Given the description of an element on the screen output the (x, y) to click on. 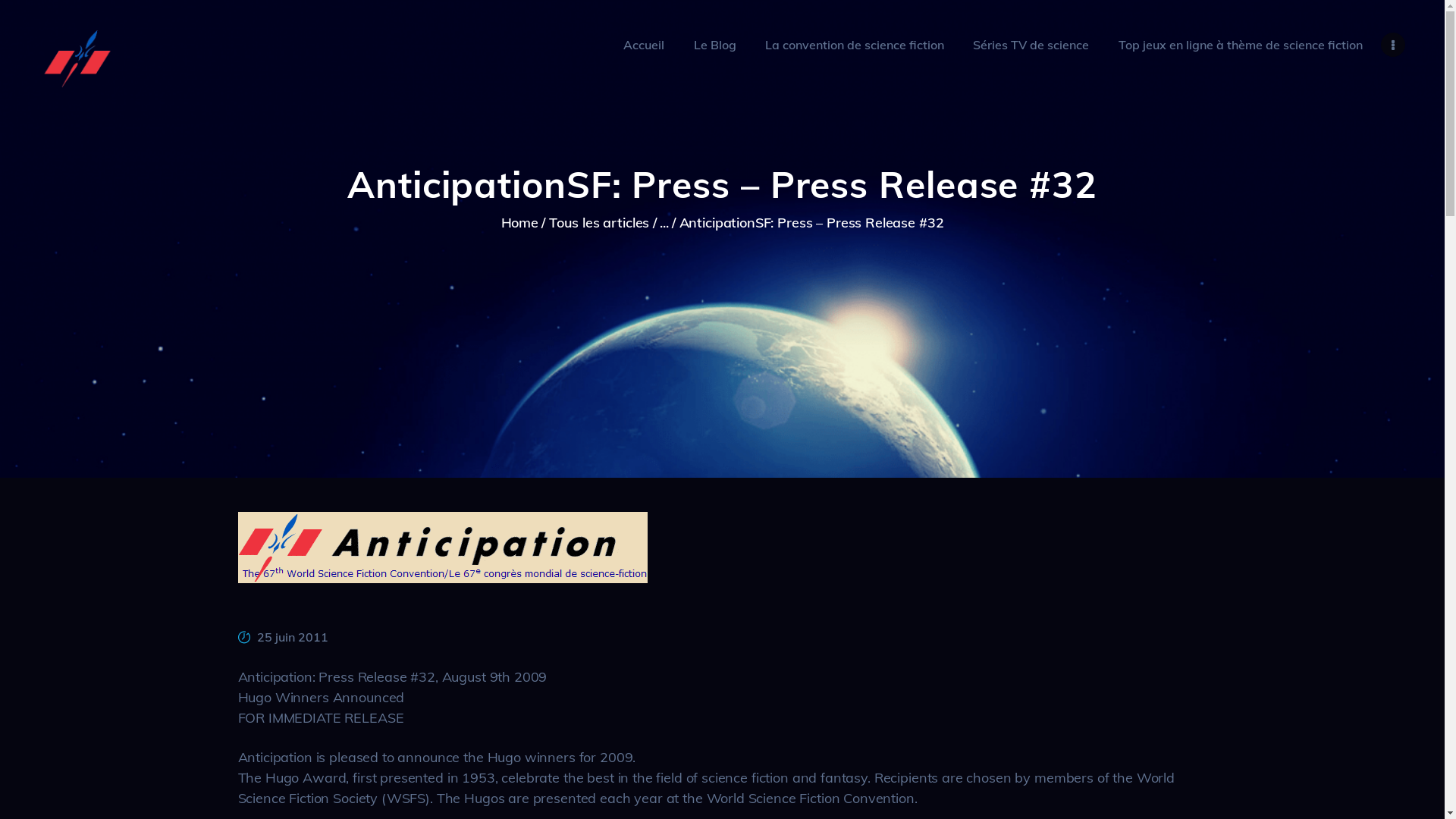
La convention de science fiction Element type: text (854, 44)
25 juin 2011 Element type: text (292, 636)
Home Element type: text (519, 222)
Le Blog Element type: text (713, 44)
Tous les articles Element type: text (599, 222)
Accueil Element type: text (643, 44)
